Given the description of an element on the screen output the (x, y) to click on. 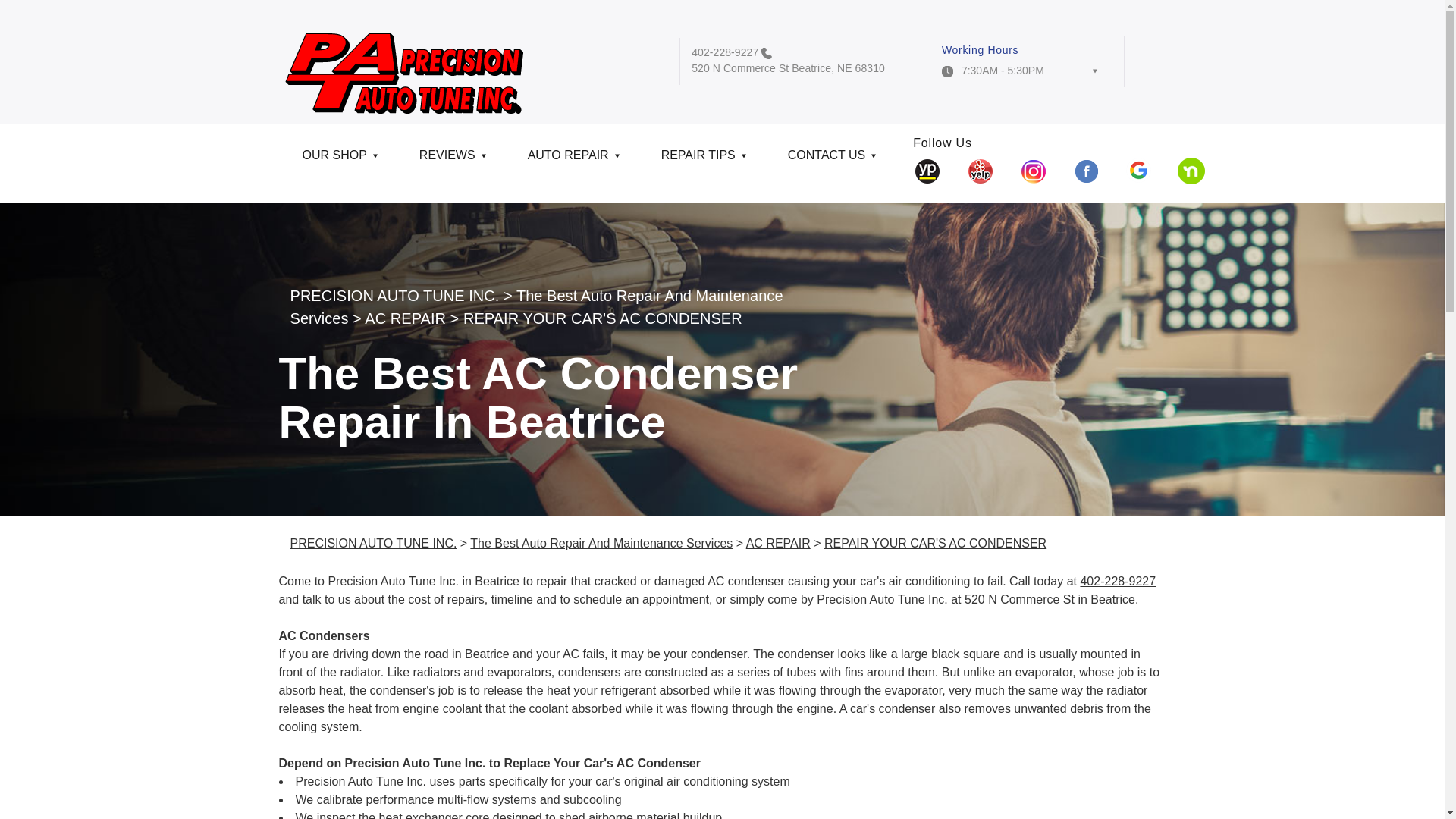
AUTO REPAIR (570, 161)
REPAIR TIPS (700, 161)
402-228-9227 (724, 51)
7:30AM - 5:30PM (1019, 74)
OUR SHOP (337, 161)
CONTACT US (829, 161)
REVIEWS (449, 161)
